Given the description of an element on the screen output the (x, y) to click on. 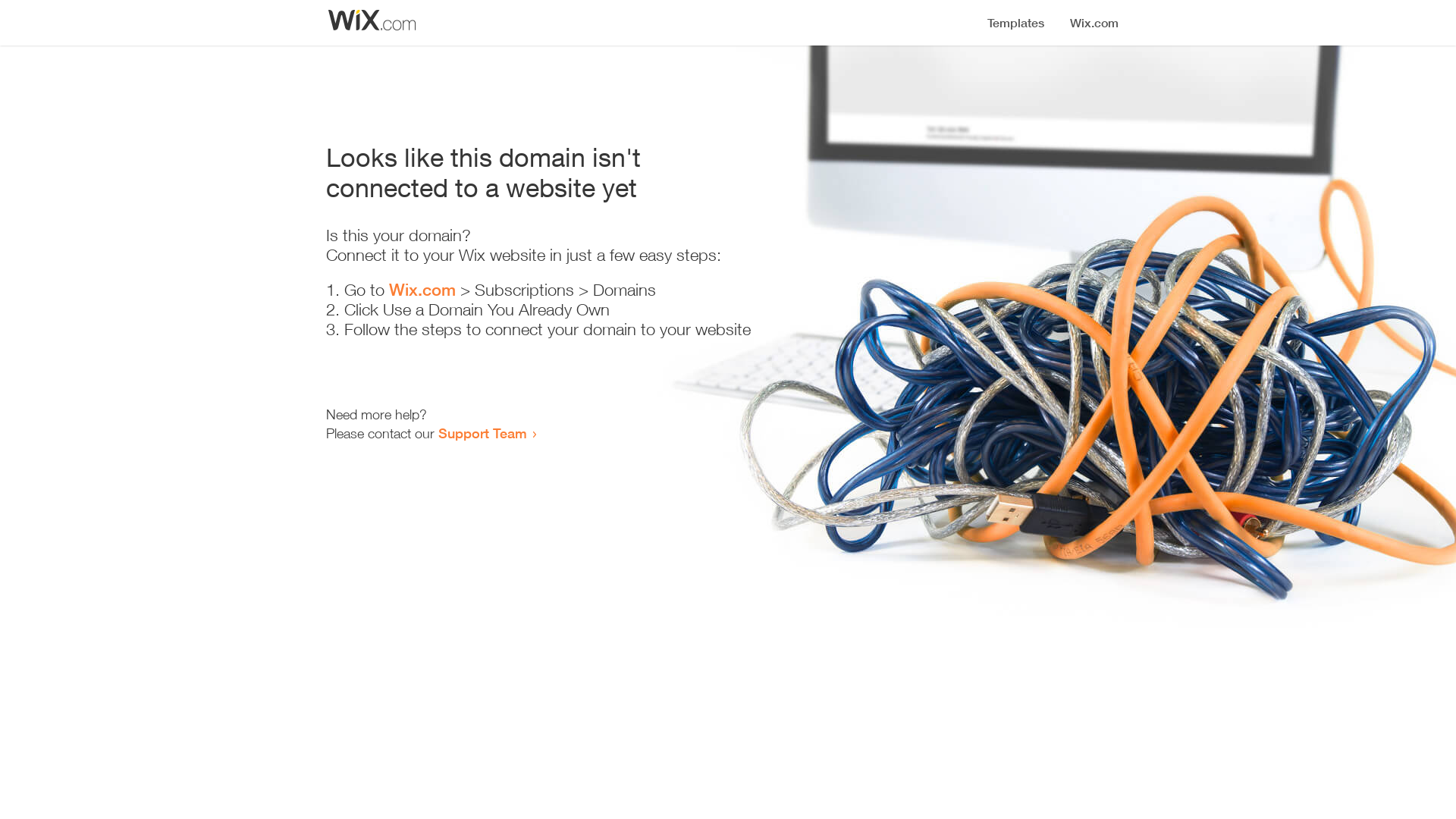
Wix.com Element type: text (422, 289)
Support Team Element type: text (482, 432)
